Given the description of an element on the screen output the (x, y) to click on. 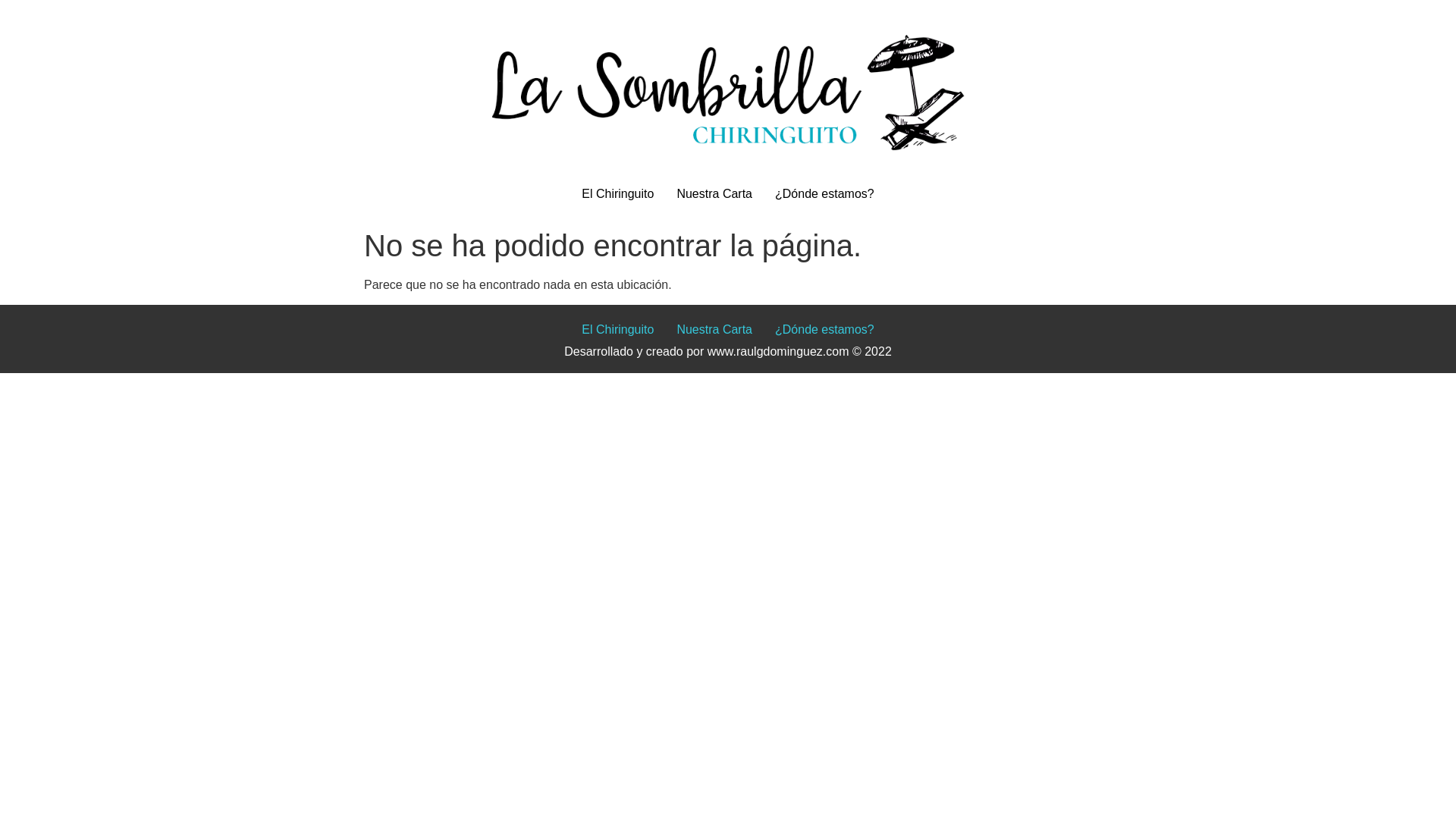
Nuestra Carta (713, 329)
El Chiringuito (617, 329)
Nuestra Carta (713, 194)
El Chiringuito (617, 194)
